Given the description of an element on the screen output the (x, y) to click on. 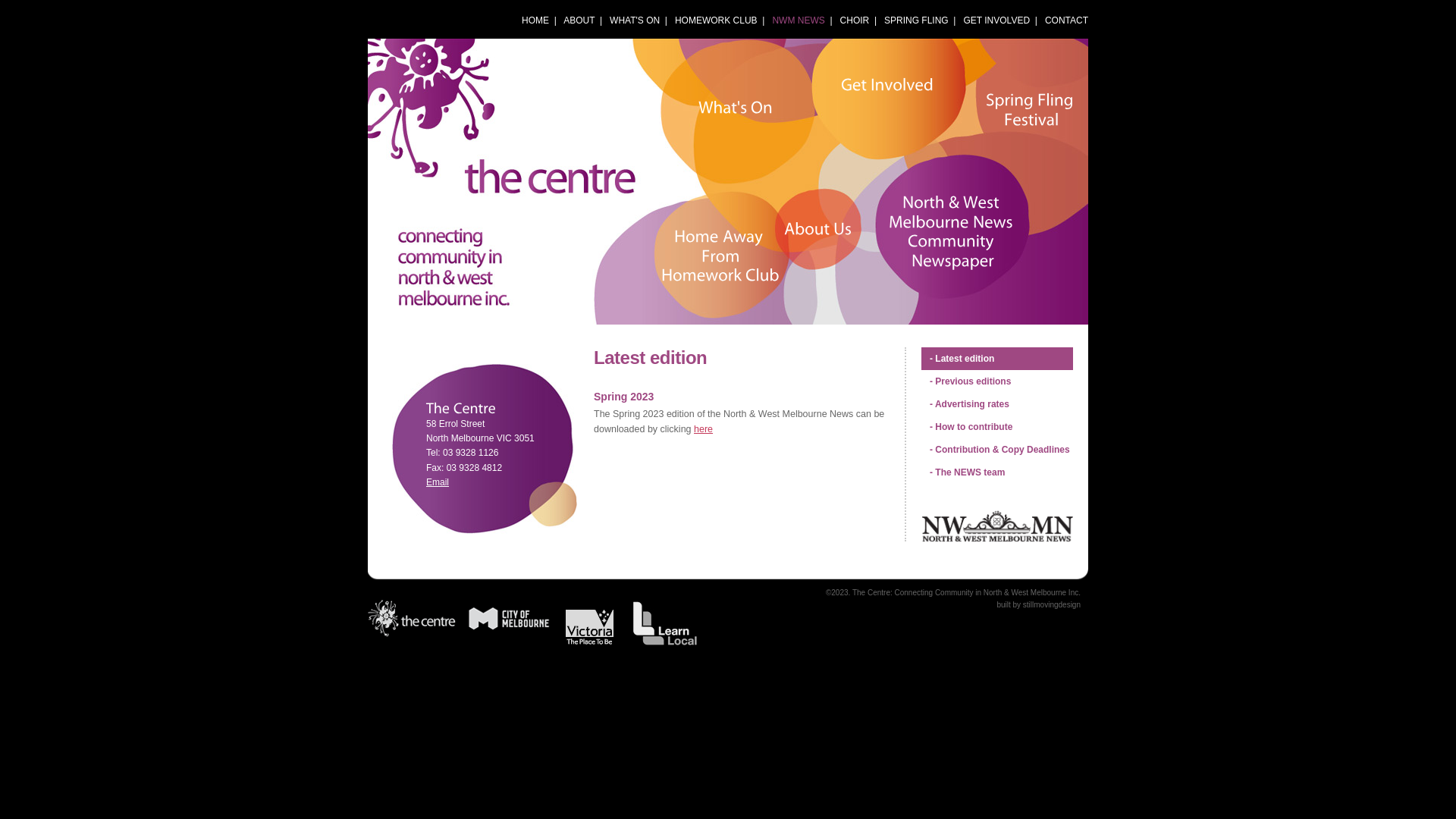
ACFE Element type: hover (663, 622)
Latest edition Element type: text (997, 358)
HOMEWORK CLUB Element type: text (715, 20)
GET INVOLVED Element type: text (996, 20)
Advertising rates Element type: text (997, 403)
Email Element type: text (437, 481)
SPRING FLING Element type: text (916, 20)
The Centre Element type: hover (411, 616)
Victoria Element type: hover (589, 625)
How to contribute Element type: text (997, 426)
NWM NEWS Element type: text (797, 20)
CHOIR Element type: text (854, 20)
Contribution & Copy Deadlines Element type: text (997, 449)
stillmovingdesign Element type: text (1051, 604)
WHAT'S ON Element type: text (634, 20)
The NEWS team Element type: text (997, 472)
CONTACT Element type: text (1066, 20)
here Element type: text (702, 428)
City of Melbourne Element type: hover (508, 616)
Previous editions Element type: text (997, 381)
ABOUT Element type: text (578, 20)
HOME Element type: text (535, 20)
